Given the description of an element on the screen output the (x, y) to click on. 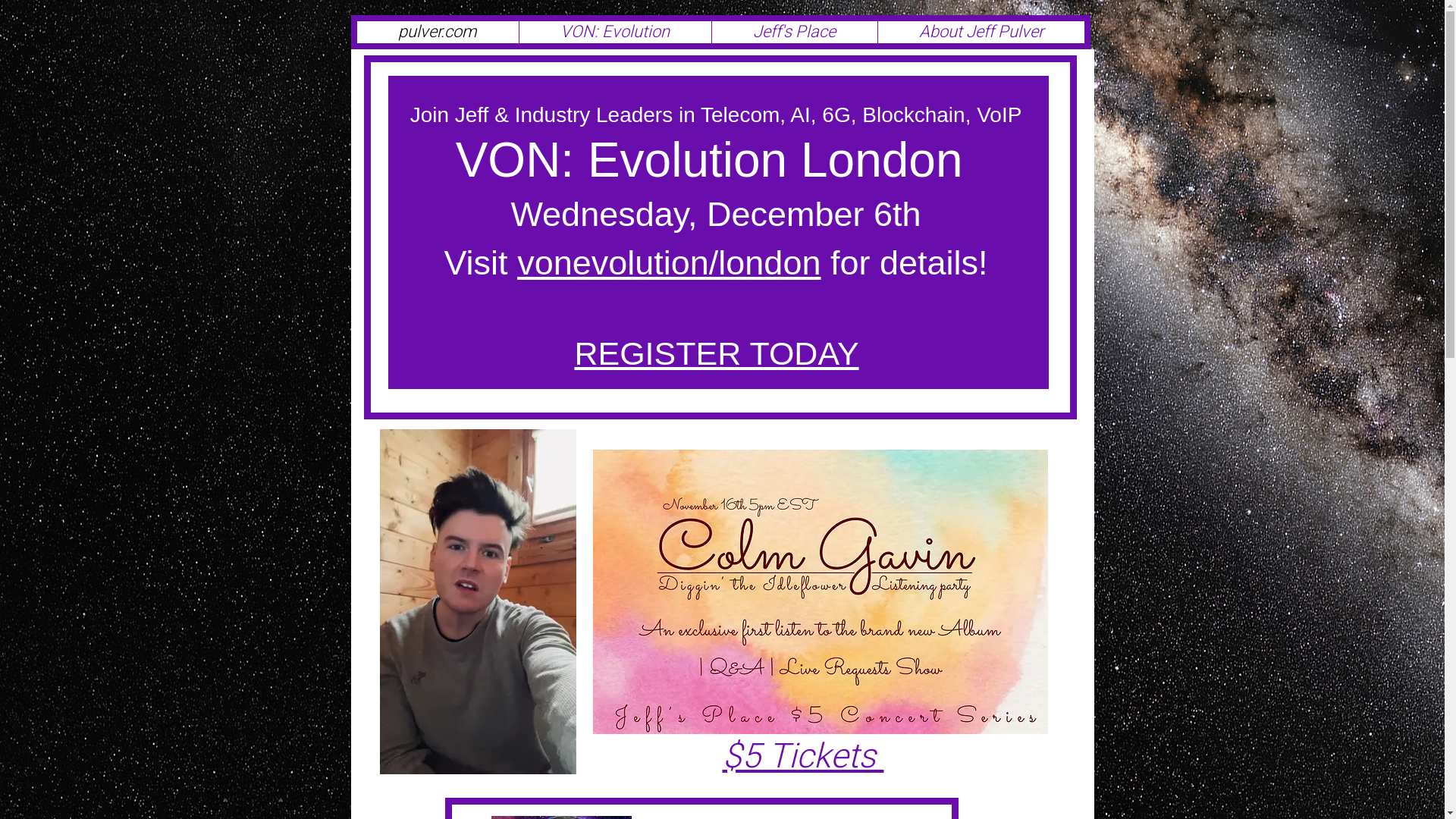
pulver.com Element type: text (436, 32)
About Jeff Pulver Element type: text (979, 32)
VON: Evolution Element type: text (614, 32)
IMG-20231104-WA0007.jpg Element type: hover (820, 591)
REGISTER TODAY Element type: text (716, 353)
$5 Tickets  Element type: text (802, 756)
Jeff's Place Element type: text (794, 32)
vonevolution/london Element type: text (668, 262)
